Given the description of an element on the screen output the (x, y) to click on. 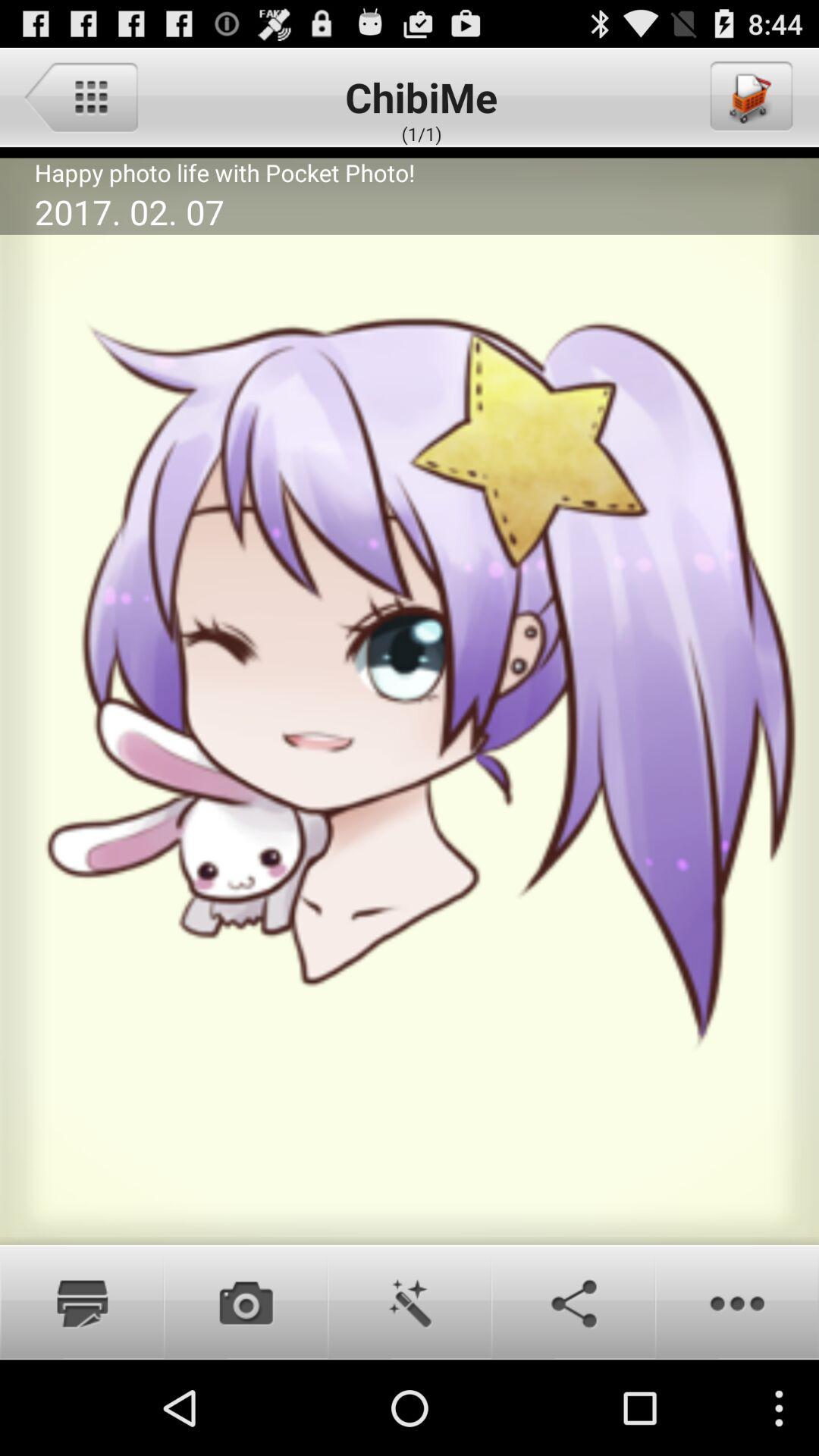
go to shopping cart (749, 96)
